Given the description of an element on the screen output the (x, y) to click on. 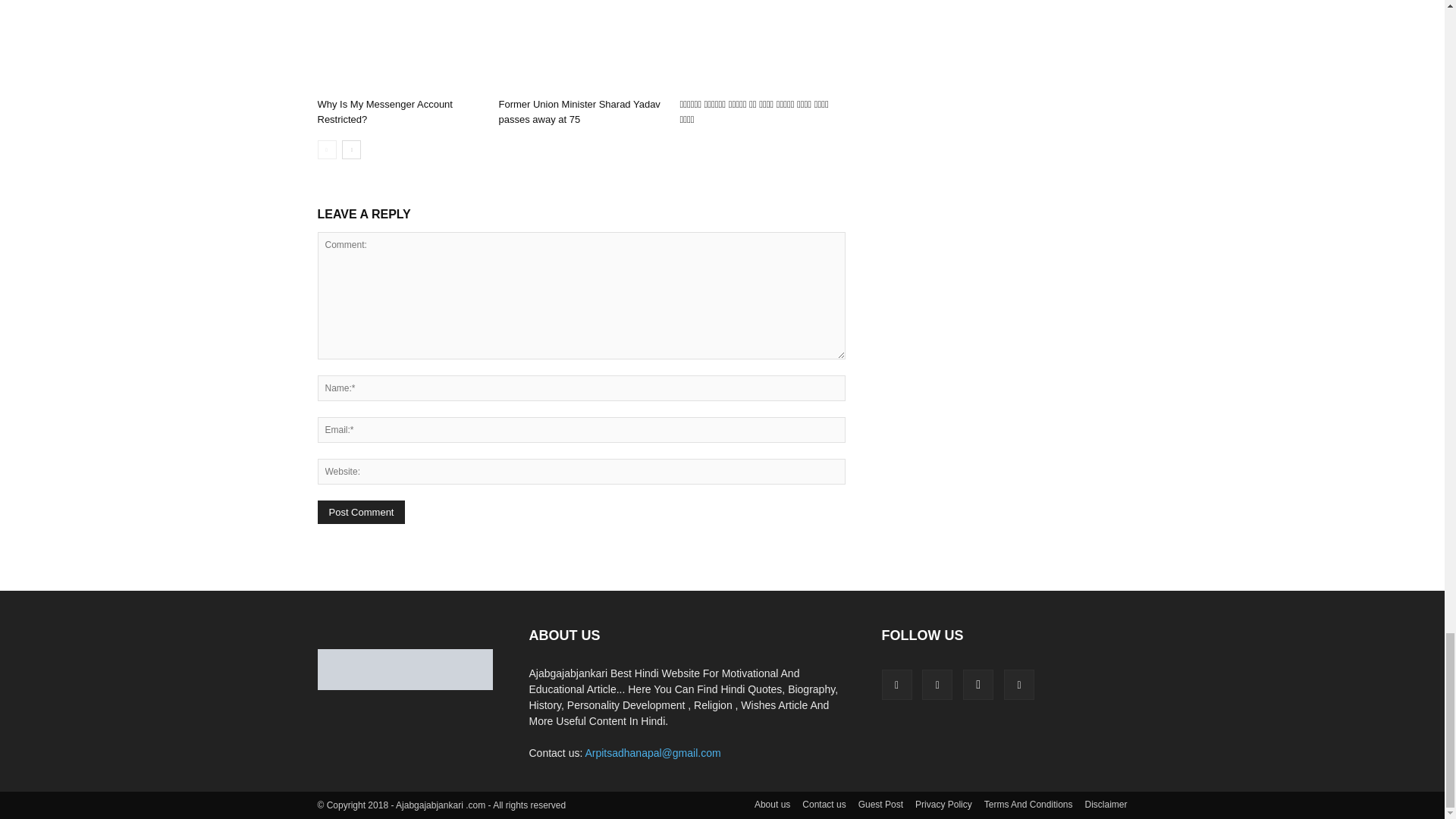
Why Is My Messenger Account Restricted? (384, 111)
Post Comment (360, 512)
Why Is My Messenger Account Restricted? (399, 45)
